Given the description of an element on the screen output the (x, y) to click on. 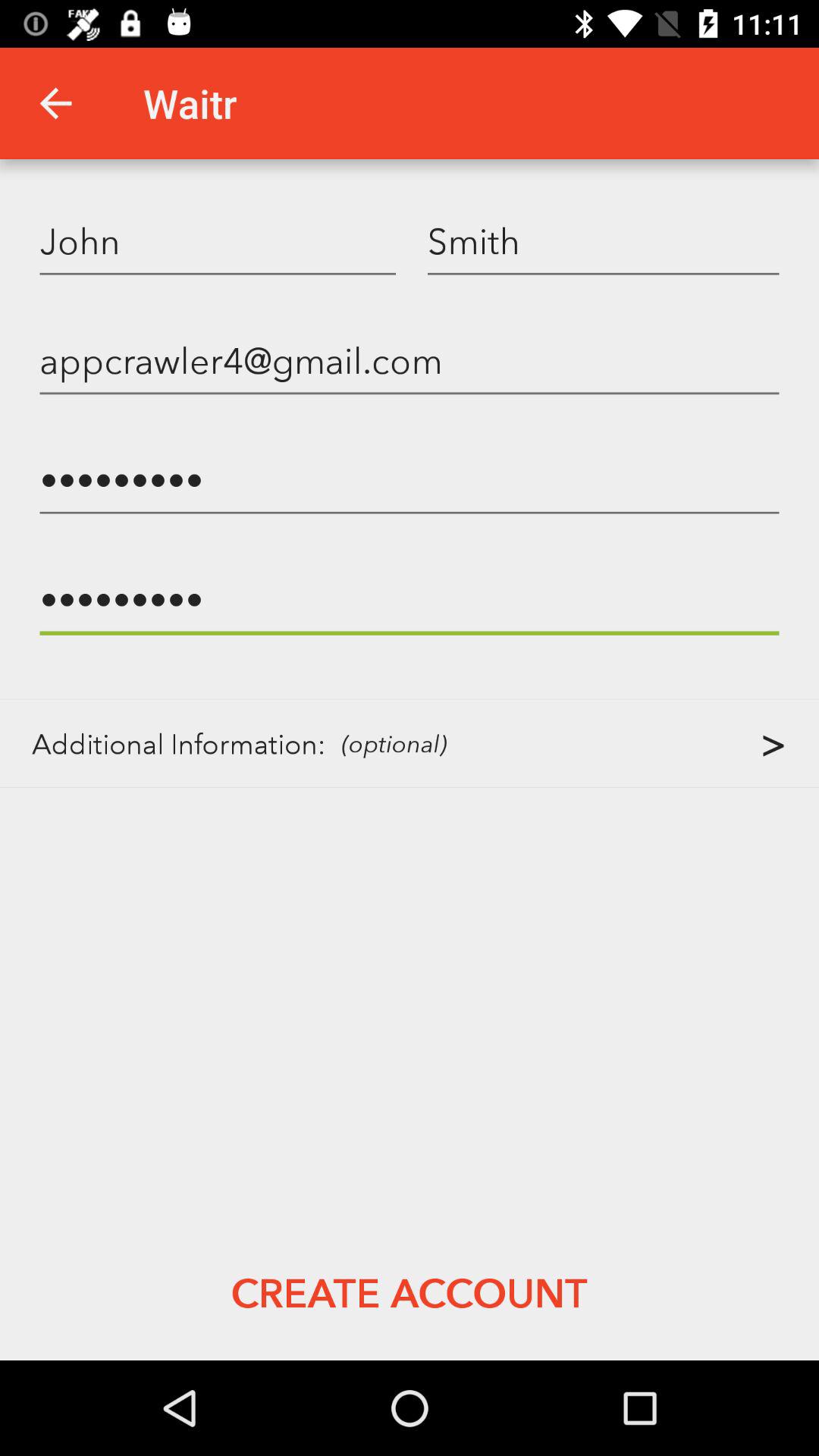
turn off item next to waitr icon (55, 103)
